Given the description of an element on the screen output the (x, y) to click on. 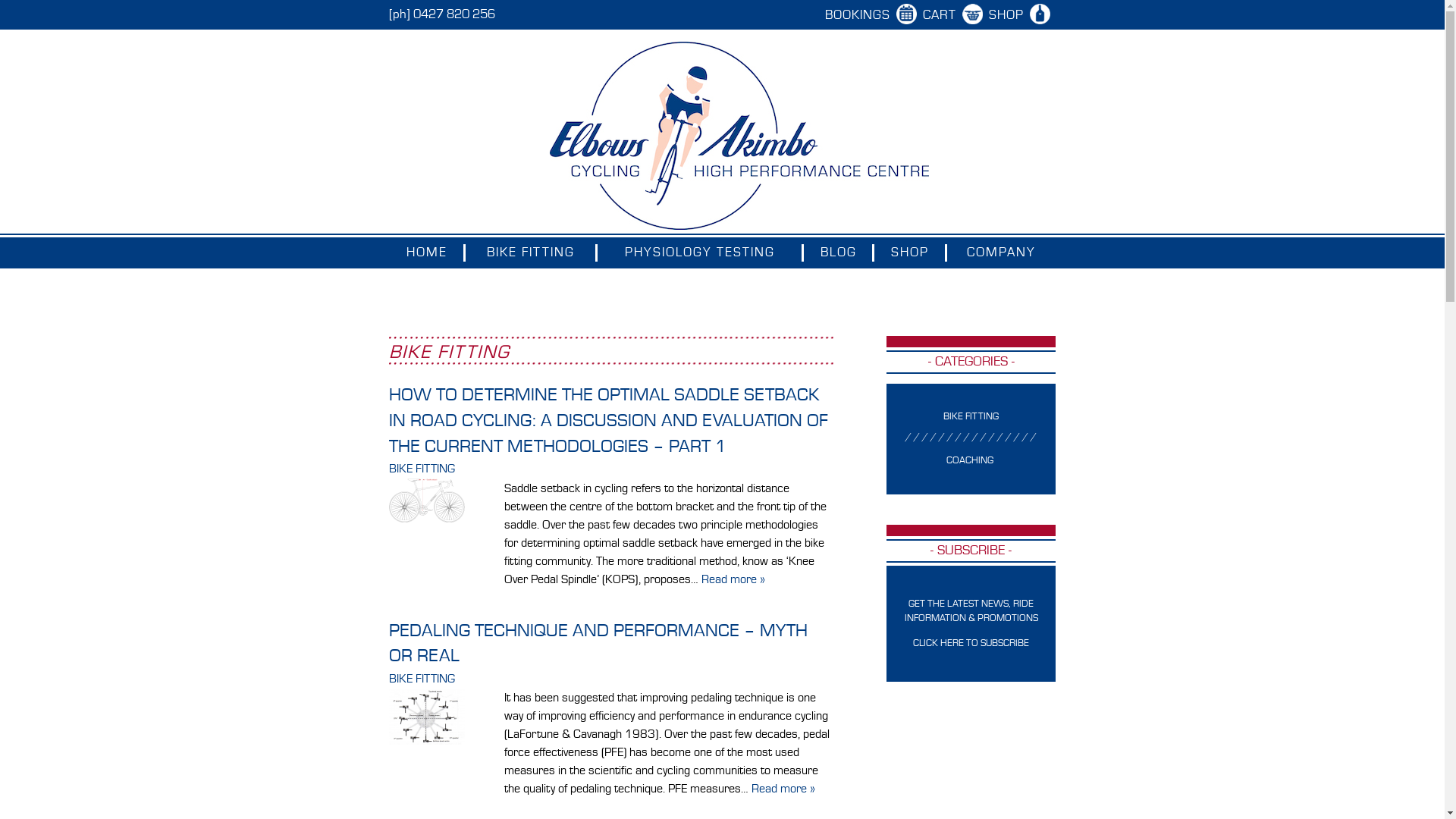
PHYSIOLOGY TESTING Element type: text (699, 252)
HOME Element type: text (426, 252)
BLOG Element type: text (838, 252)
SHOP Element type: text (909, 252)
COMPANY Element type: text (1000, 252)
BIKE FITTING Element type: text (530, 252)
BIKE FITTING Element type: text (421, 469)
[ph] 0427 820 256 Element type: text (441, 14)
COACHING Element type: text (969, 460)
BIKE FITTING Element type: text (970, 416)
SHOP Element type: text (1008, 15)
CLICK HERE TO SUBSCRIBE Element type: text (971, 643)
CART Element type: text (941, 15)
BOOKINGS Element type: text (860, 15)
BIKE FITTING Element type: text (421, 679)
